Given the description of an element on the screen output the (x, y) to click on. 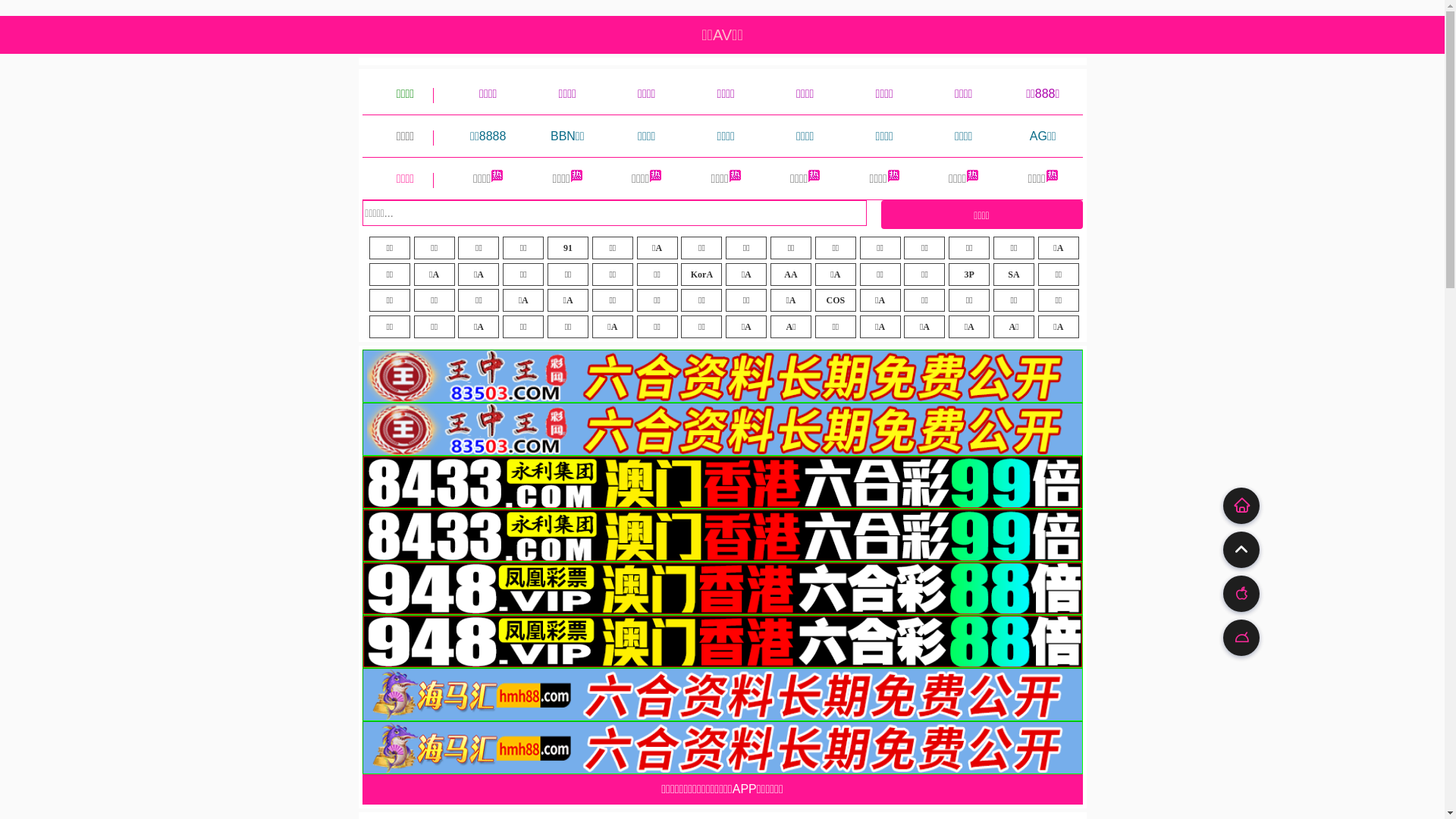
91 Element type: text (567, 247)
3P Element type: text (968, 274)
COS Element type: text (835, 299)
AA Element type: text (790, 274)
KorA Element type: text (700, 274)
SA Element type: text (1013, 274)
